Given the description of an element on the screen output the (x, y) to click on. 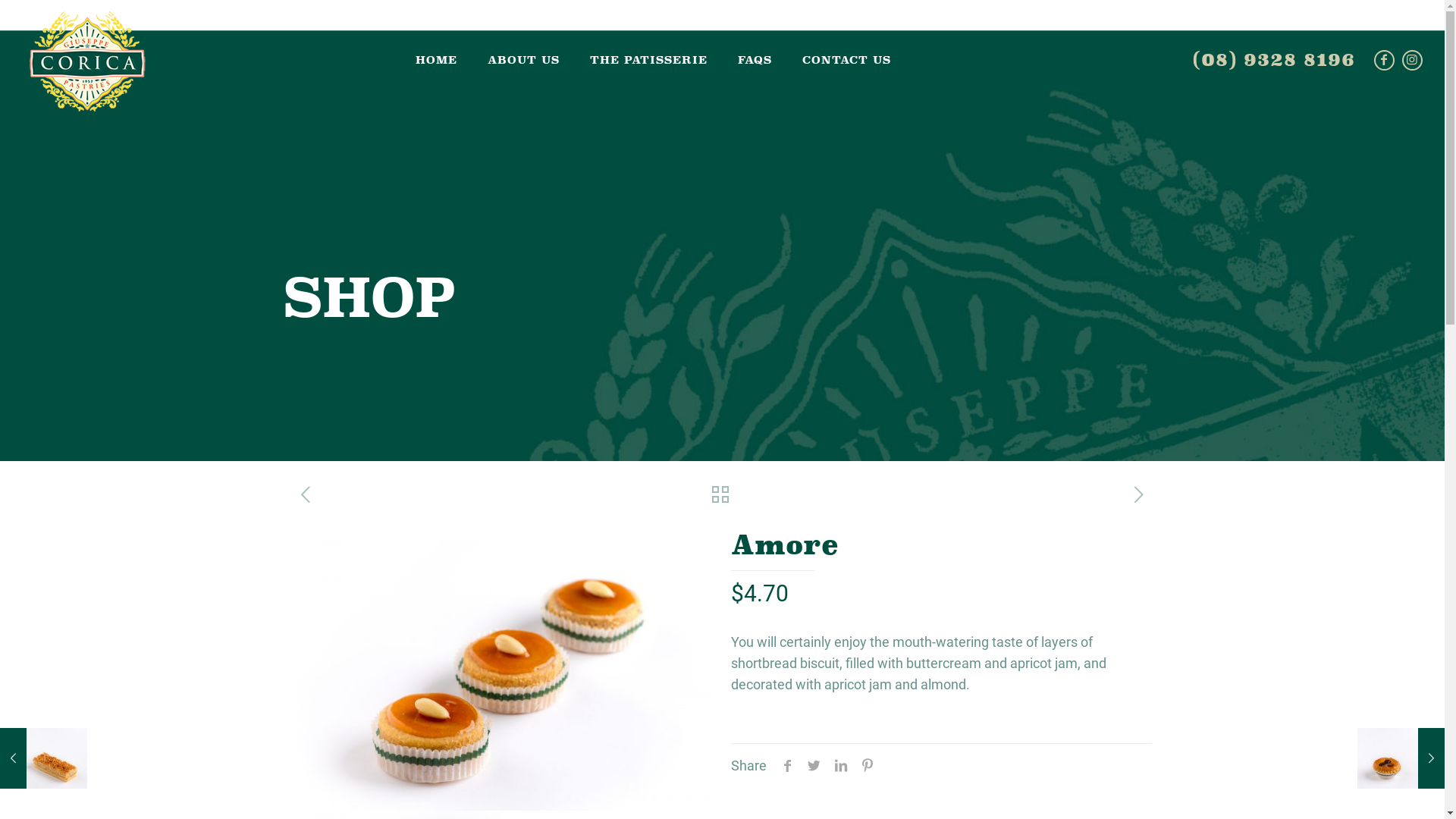
Corica Pastries Element type: hover (87, 38)
Amore Element type: hover (502, 669)
HOME Element type: text (436, 59)
Instagram Element type: hover (1412, 60)
FAQS Element type: text (754, 59)
(08) 9328 8196 Element type: text (1273, 59)
ABOUT US Element type: text (523, 59)
THE PATISSERIE Element type: text (648, 59)
Amore(1) Element type: hover (923, 669)
CONTACT US Element type: text (846, 59)
Facebook Element type: hover (1384, 60)
